Given the description of an element on the screen output the (x, y) to click on. 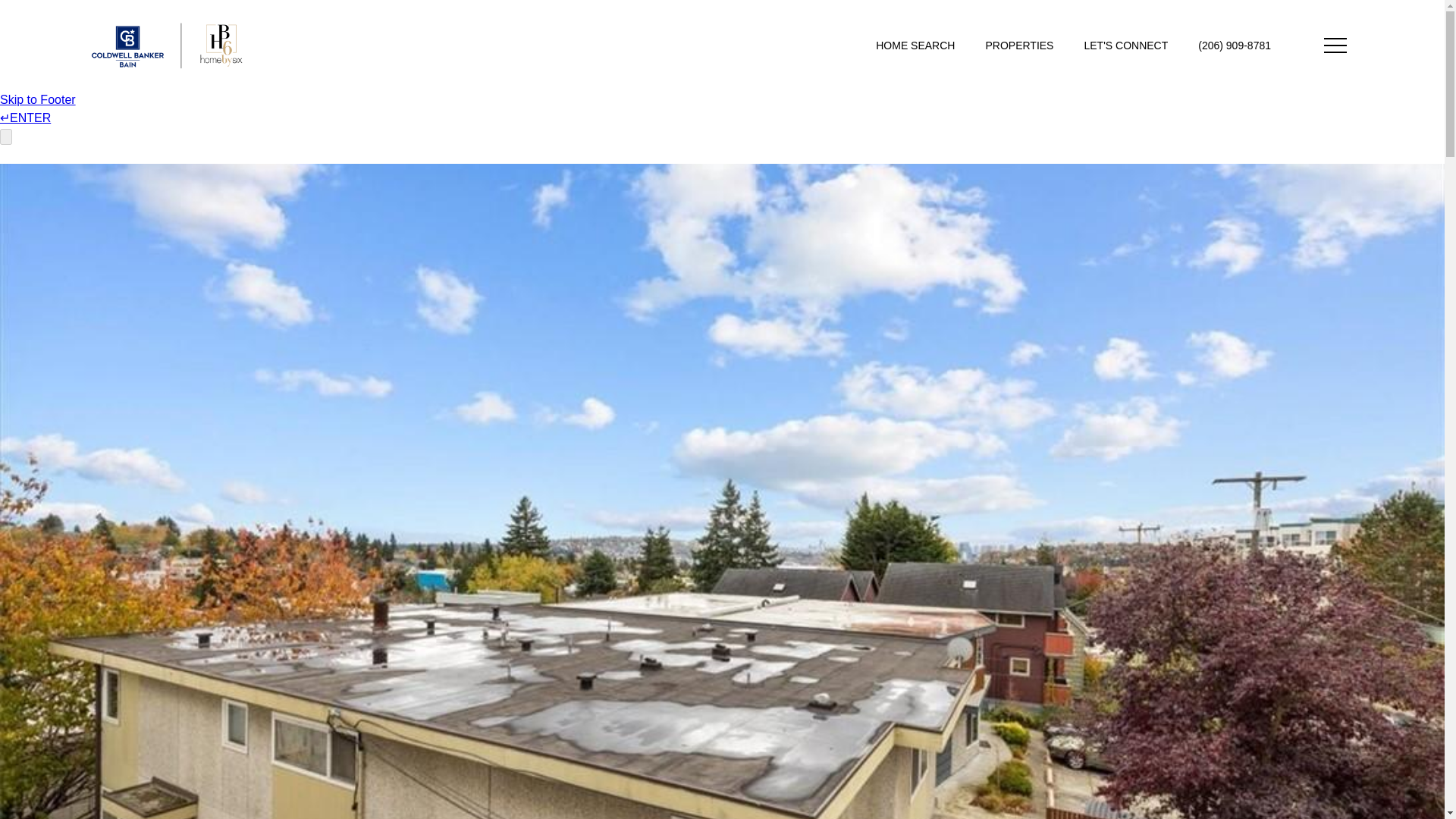
PROPERTIES (1018, 45)
LET'S CONNECT (1125, 45)
HOME SEARCH (914, 45)
